Given the description of an element on the screen output the (x, y) to click on. 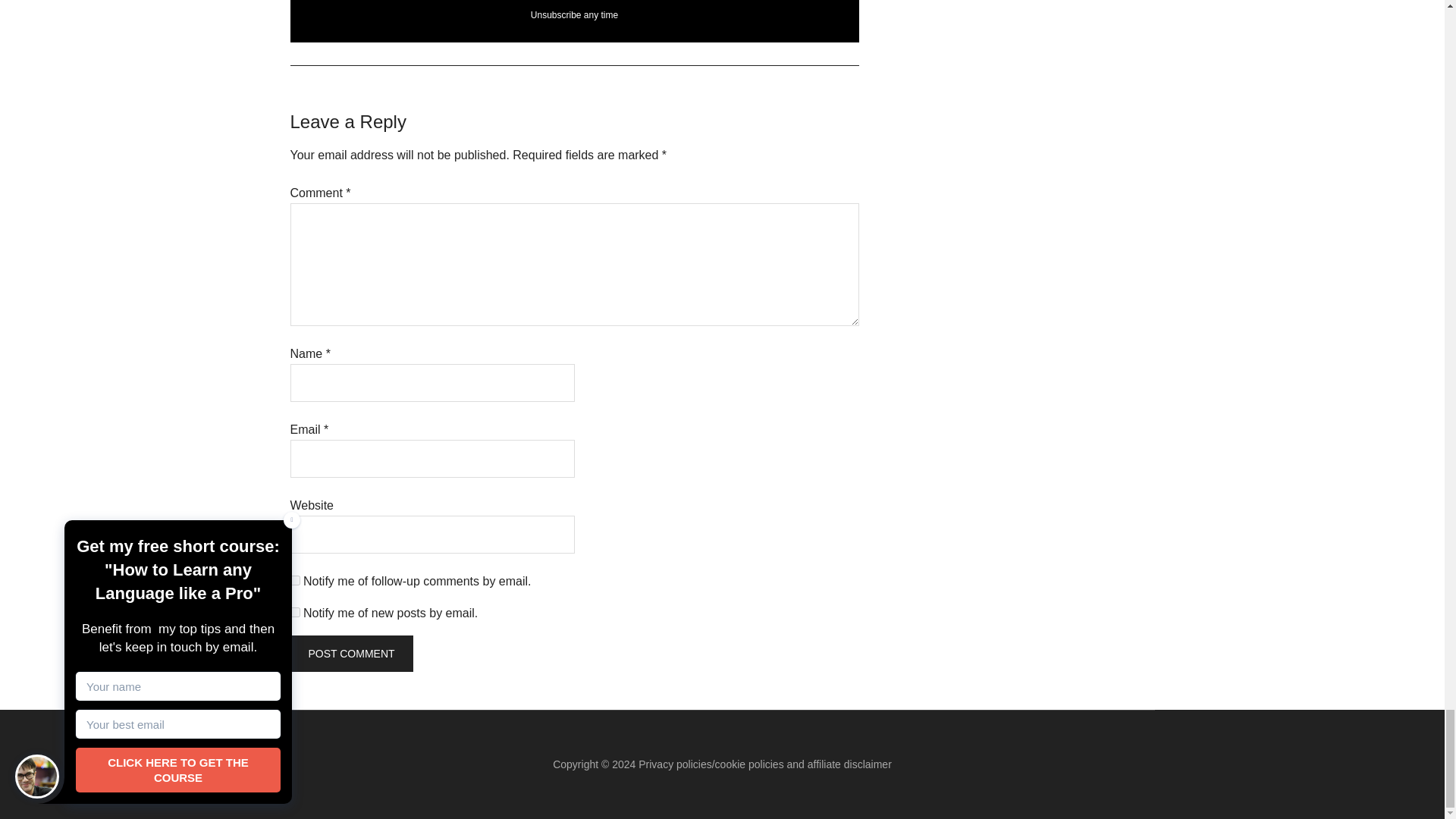
subscribe (294, 612)
Post Comment (350, 653)
subscribe (294, 580)
